Given the description of an element on the screen output the (x, y) to click on. 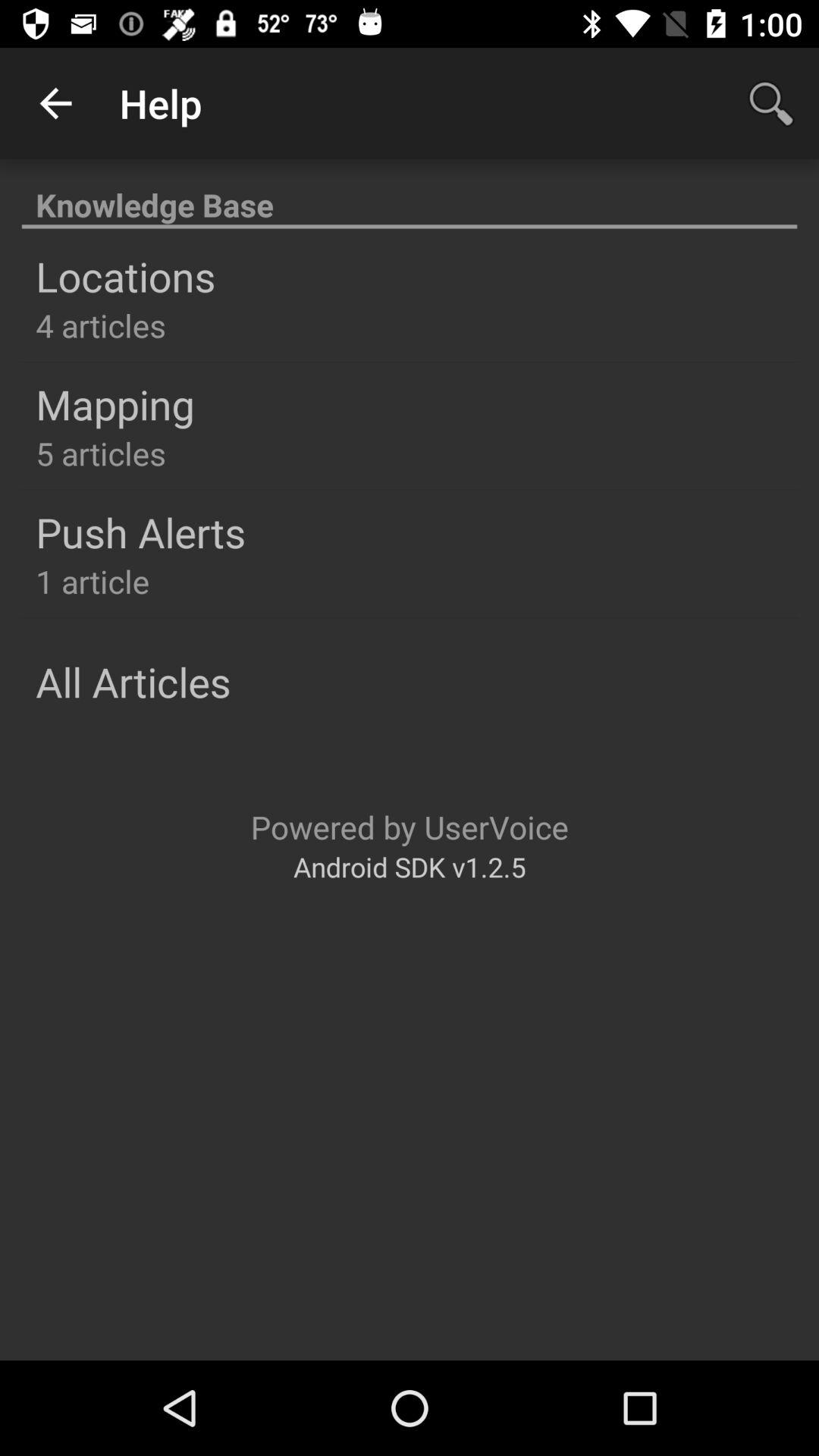
turn on the 4 articles item (100, 324)
